Given the description of an element on the screen output the (x, y) to click on. 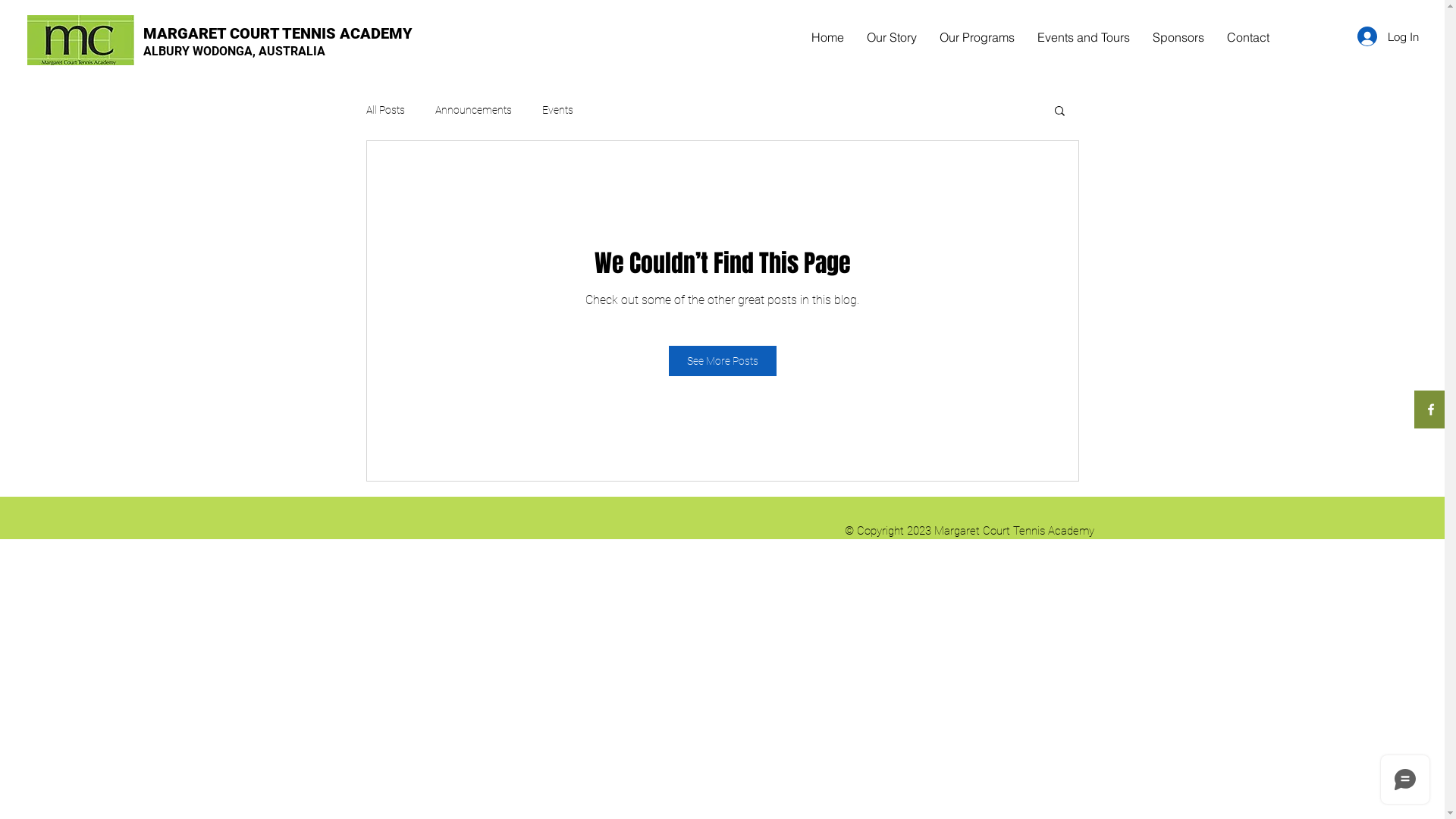
All Posts Element type: text (384, 109)
Home Element type: text (827, 37)
Announcements Element type: text (473, 109)
Log In Element type: text (1387, 35)
Events Element type: text (556, 109)
Events and Tours Element type: text (1083, 37)
Our Programs Element type: text (977, 37)
Contact Element type: text (1247, 37)
See More Posts Element type: text (722, 360)
Sponsors Element type: text (1178, 37)
Our Story Element type: text (891, 37)
logo.jpg Element type: hover (80, 40)
